Given the description of an element on the screen output the (x, y) to click on. 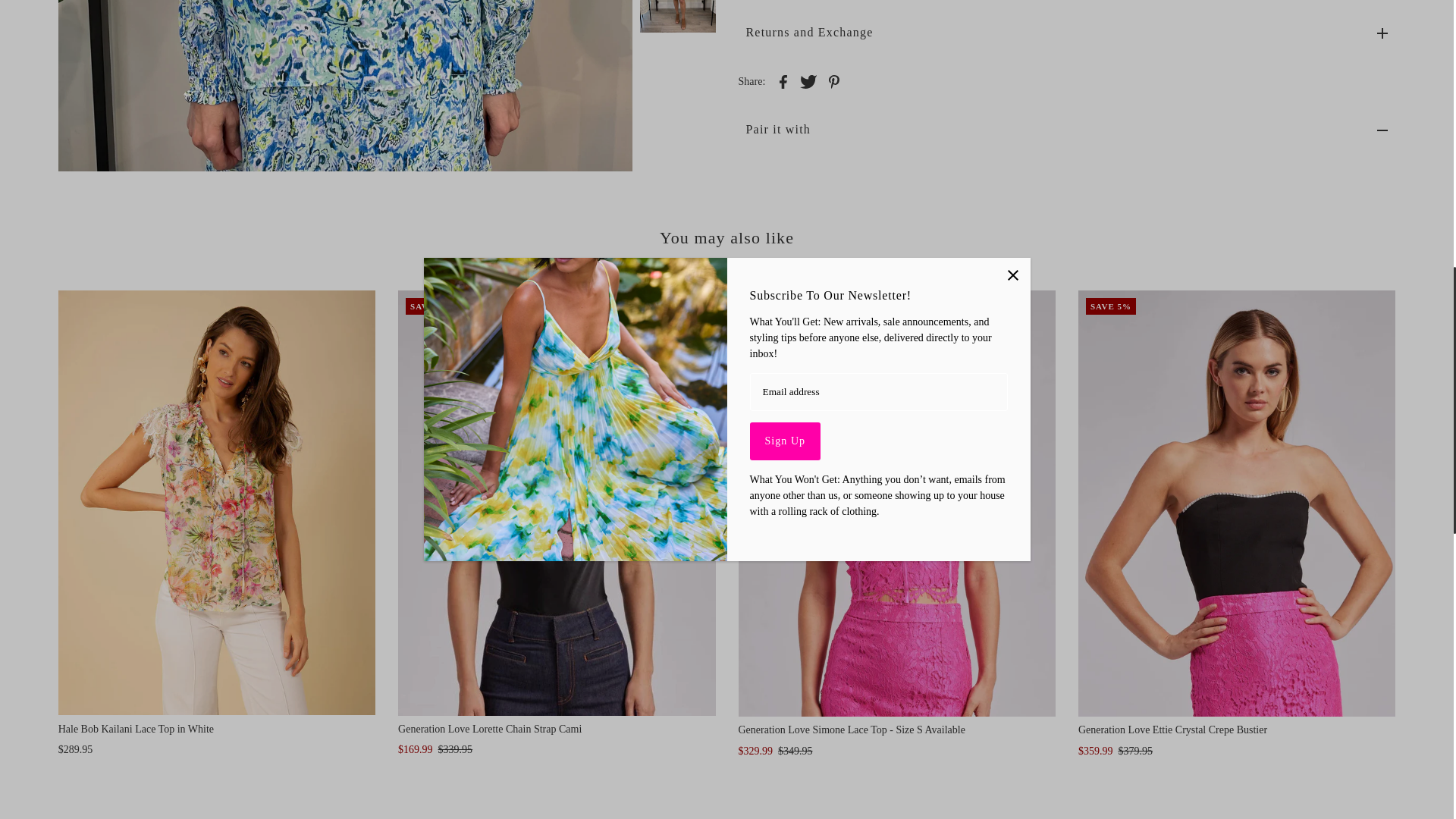
Share on Facebook (782, 80)
Share on Pinterest (833, 80)
Share on Twitter (807, 80)
